Given the description of an element on the screen output the (x, y) to click on. 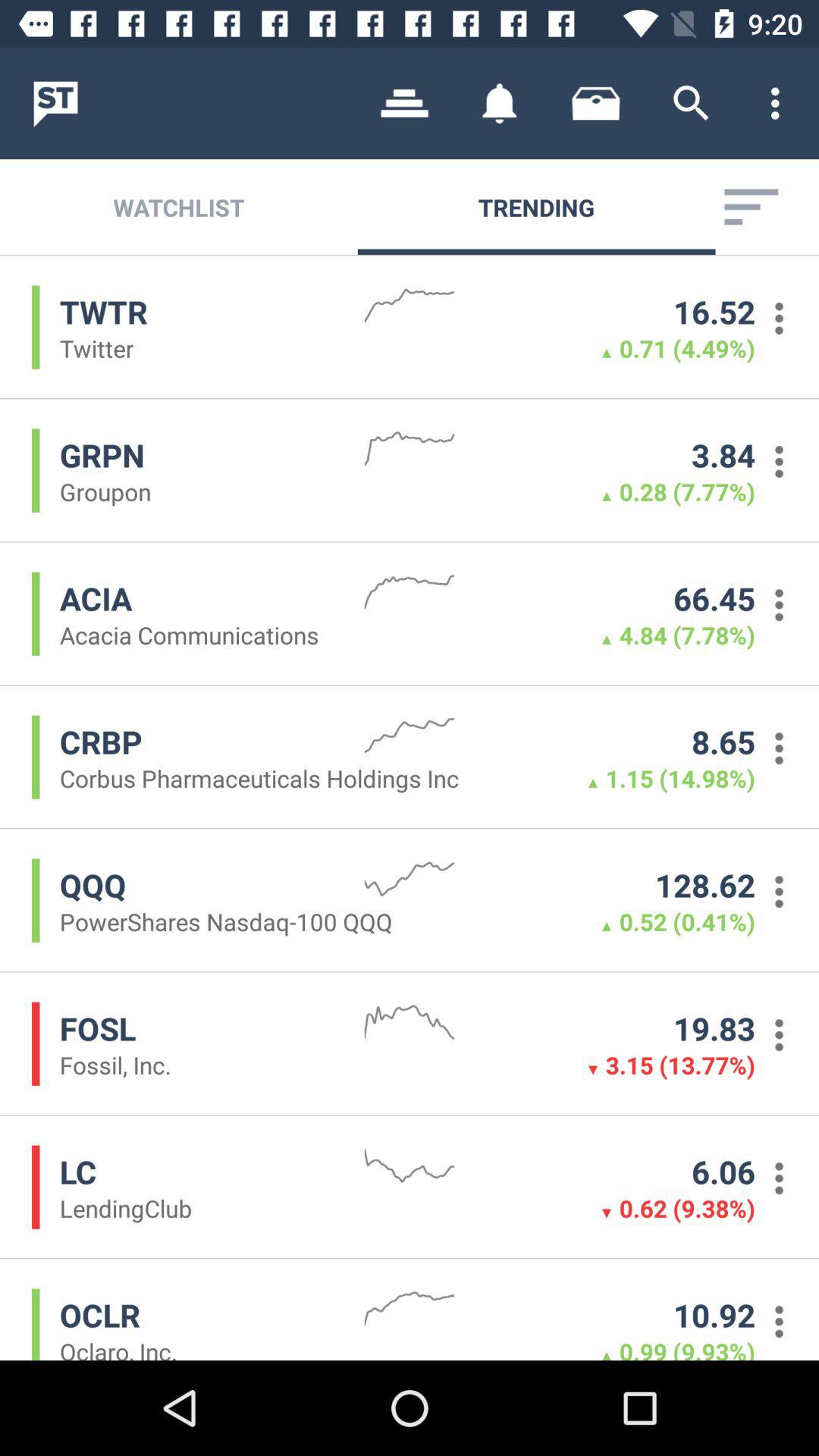
turn on the item next to the trending icon (751, 206)
